Given the description of an element on the screen output the (x, y) to click on. 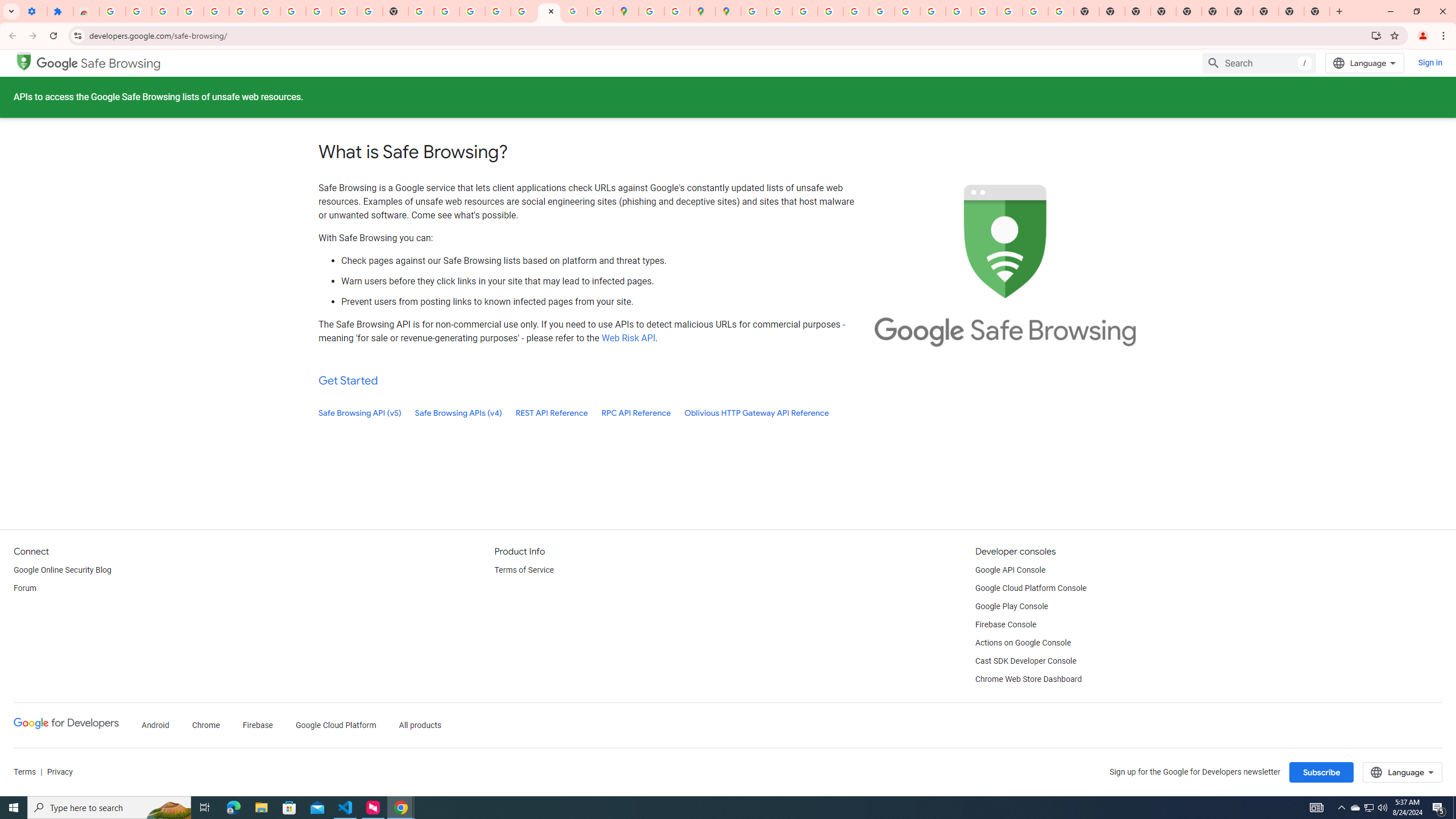
Google API Console (1010, 570)
Privacy (59, 772)
Sign in - Google Accounts (753, 11)
YouTube (907, 11)
Google Developers (66, 723)
All products (420, 725)
Terms (24, 772)
Privacy Help Center - Policies Help (830, 11)
Privacy Help Center - Policies Help (804, 11)
Google Online Security Blog (62, 570)
